Given the description of an element on the screen output the (x, y) to click on. 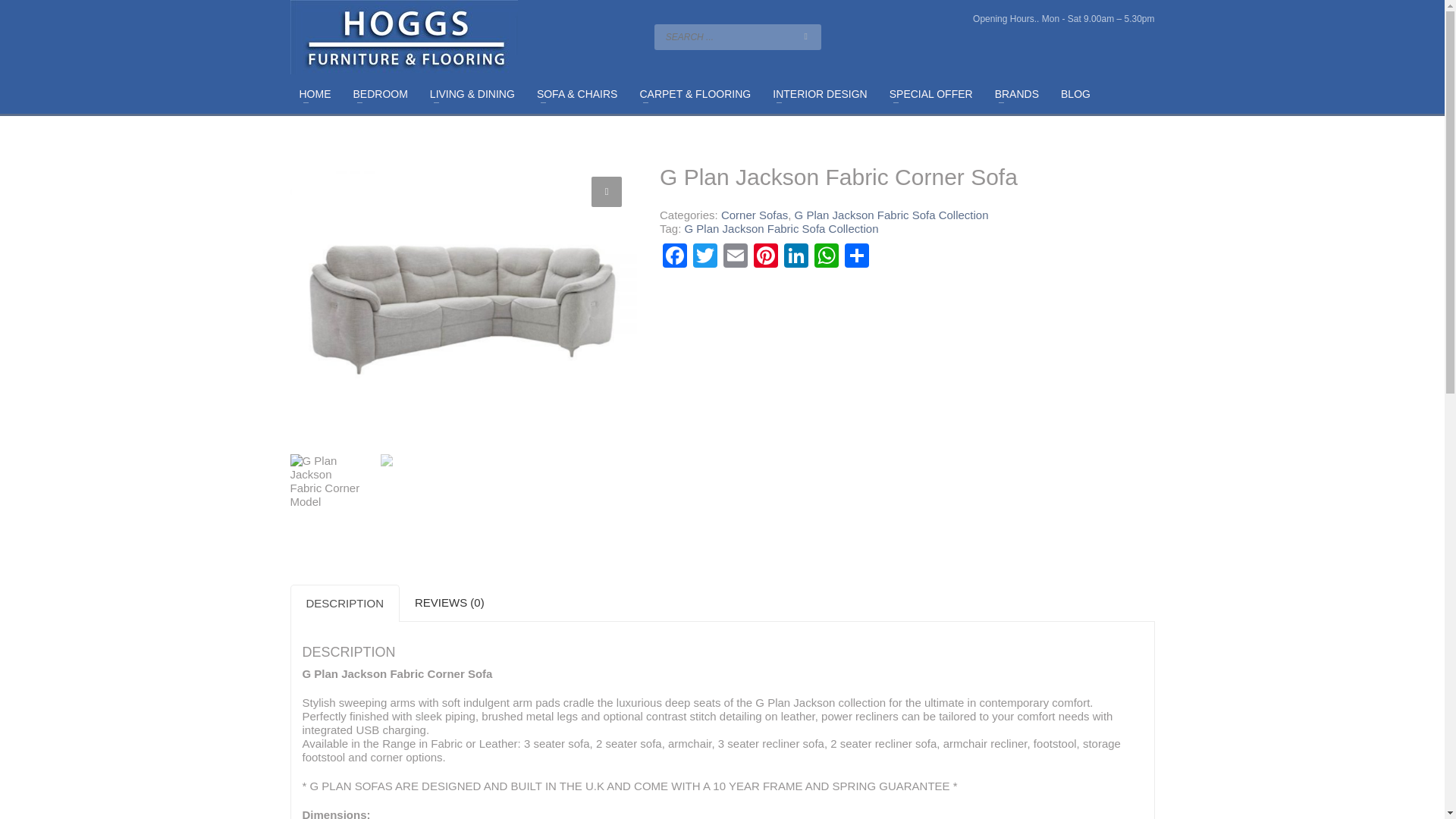
Facebook (674, 257)
Twitter (705, 257)
BEDROOM (379, 94)
Email (735, 257)
LinkedIn (795, 257)
Pinterest (765, 257)
WhatsApp (825, 257)
HOME (314, 94)
G Plan Jackson Fabric Corner Model (463, 299)
go (805, 36)
